Given the description of an element on the screen output the (x, y) to click on. 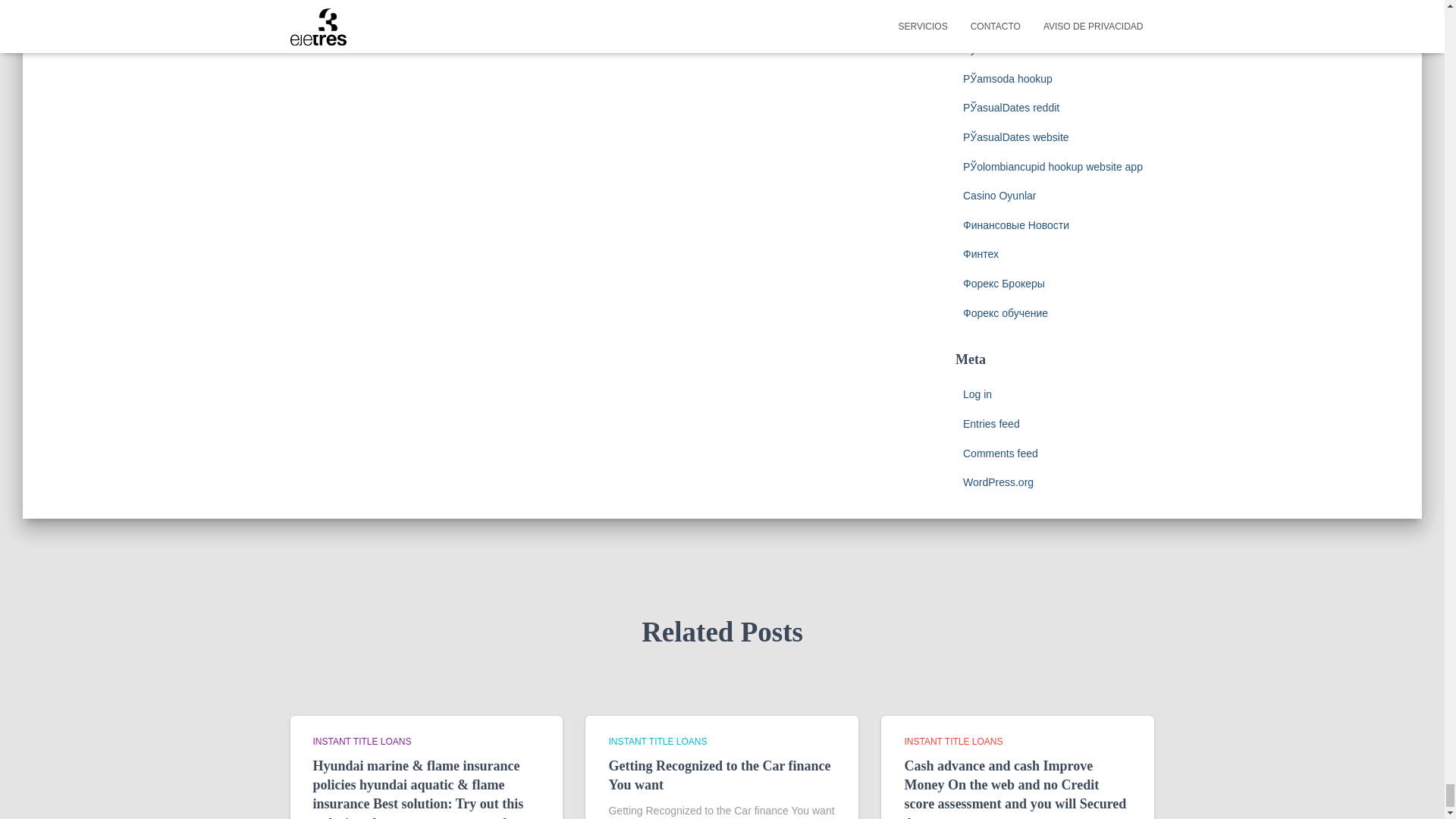
View all posts in instant title loans (953, 741)
View all posts in instant title loans (657, 741)
Getting Recognized to the Car finance You want (718, 775)
View all posts in instant title loans (361, 741)
